Given the description of an element on the screen output the (x, y) to click on. 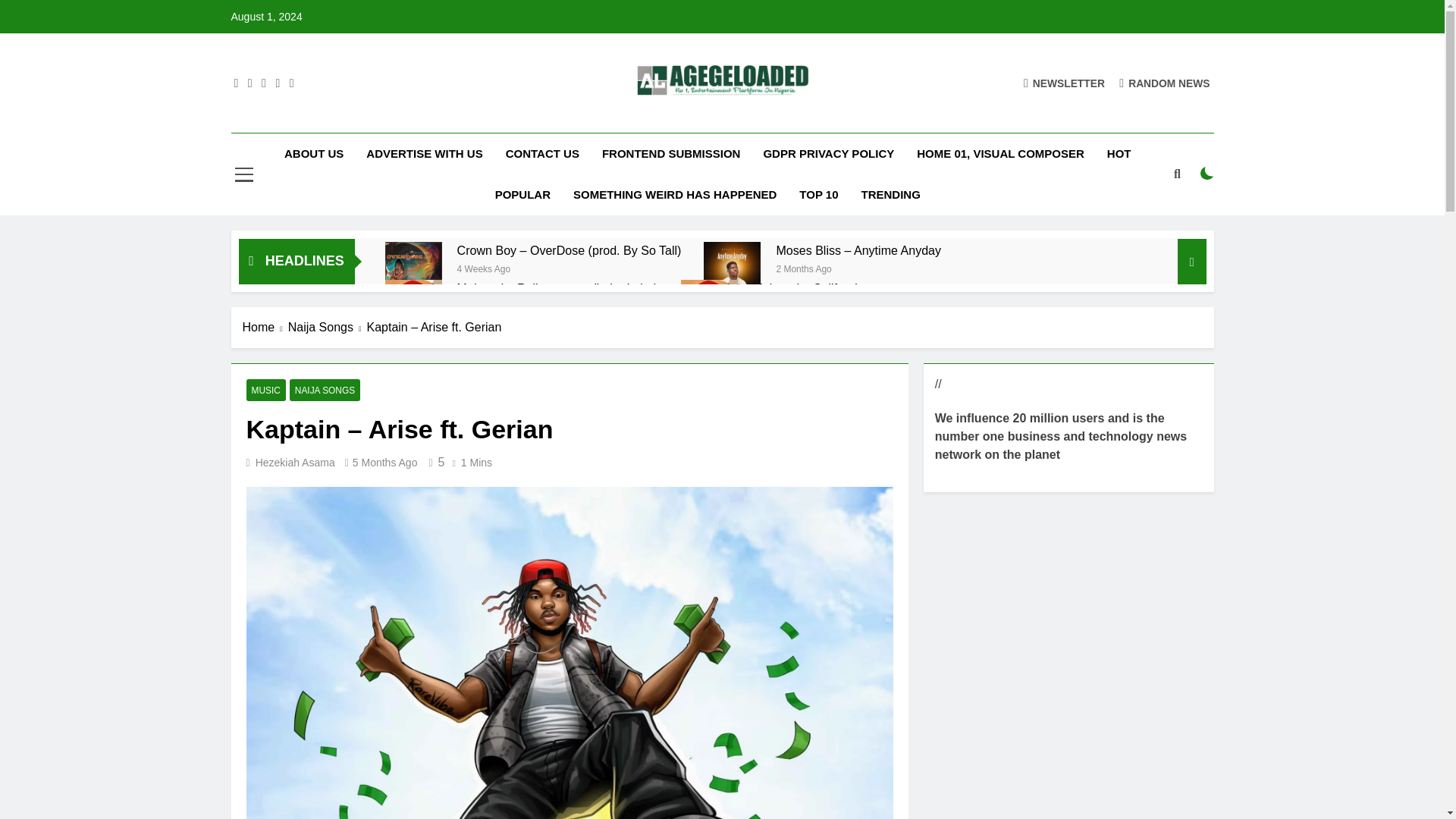
TOP 10 (817, 194)
SOMETHING WEIRD HAS HAPPENED (674, 194)
RANDOM NEWS (1164, 82)
NEWSLETTER (1064, 82)
POPULAR (522, 194)
TRENDING (889, 194)
ABOUT US (314, 153)
2 Months Ago (803, 267)
4 Weeks Ago (484, 267)
HOT (1119, 153)
on (1206, 173)
HOME 01, VISUAL COMPOSER (1000, 153)
CONTACT US (543, 153)
ADVERTISE WITH US (424, 153)
GDPR PRIVACY POLICY (828, 153)
